Given the description of an element on the screen output the (x, y) to click on. 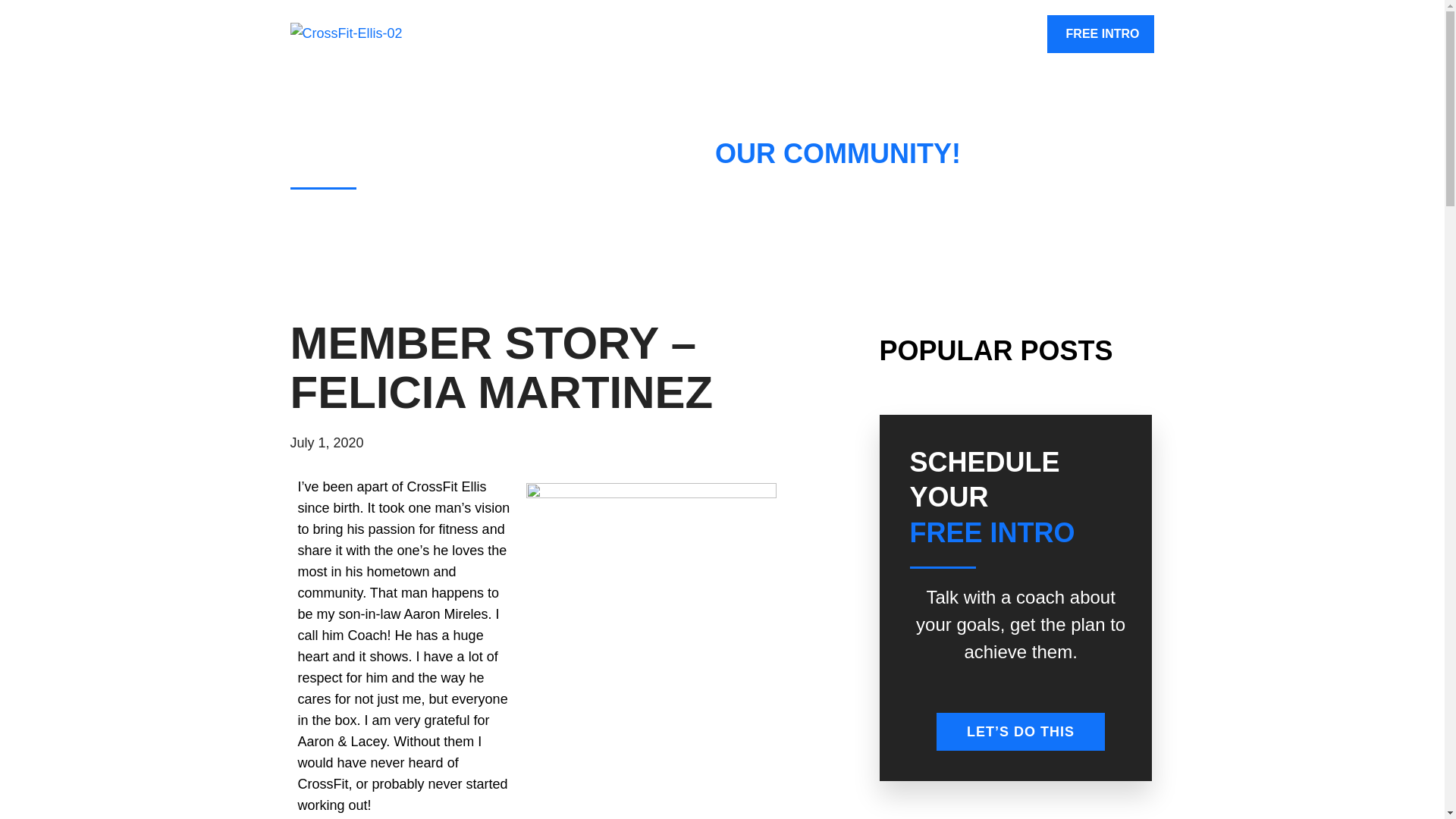
BLOG (1009, 34)
FREE INTRO (1102, 34)
ABOUT (717, 34)
CrossFit-Ellis-02 (380, 33)
MORE INFO (810, 34)
PROGRAMS (918, 34)
